Given the description of an element on the screen output the (x, y) to click on. 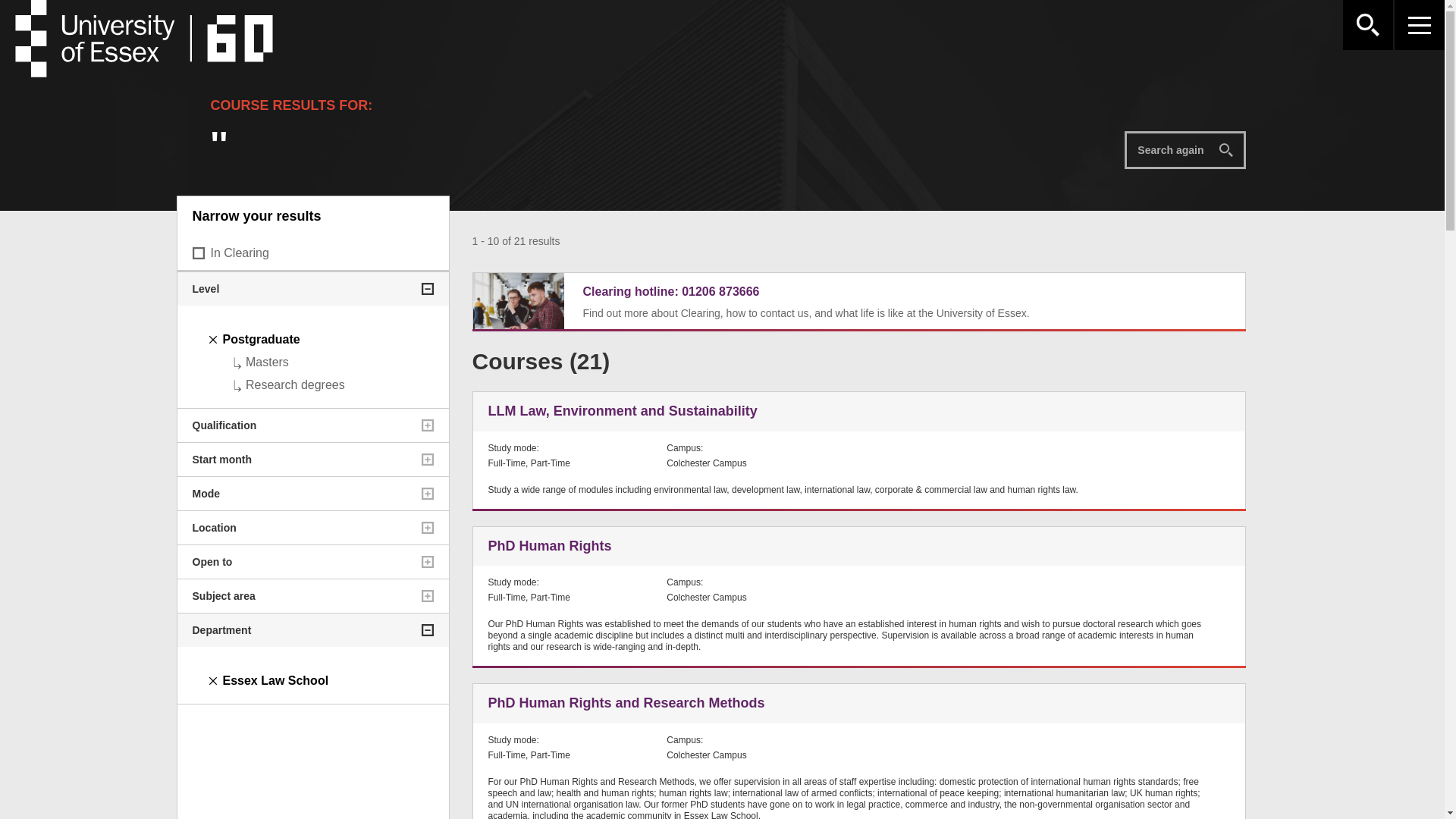
Remove 'Level: Postgraduate' (260, 338)
Remove 'Department: Essex Law School' (275, 680)
Refine by 'Level: Research degrees' (295, 384)
Refine by 'Level: Masters' (267, 361)
